Given the description of an element on the screen output the (x, y) to click on. 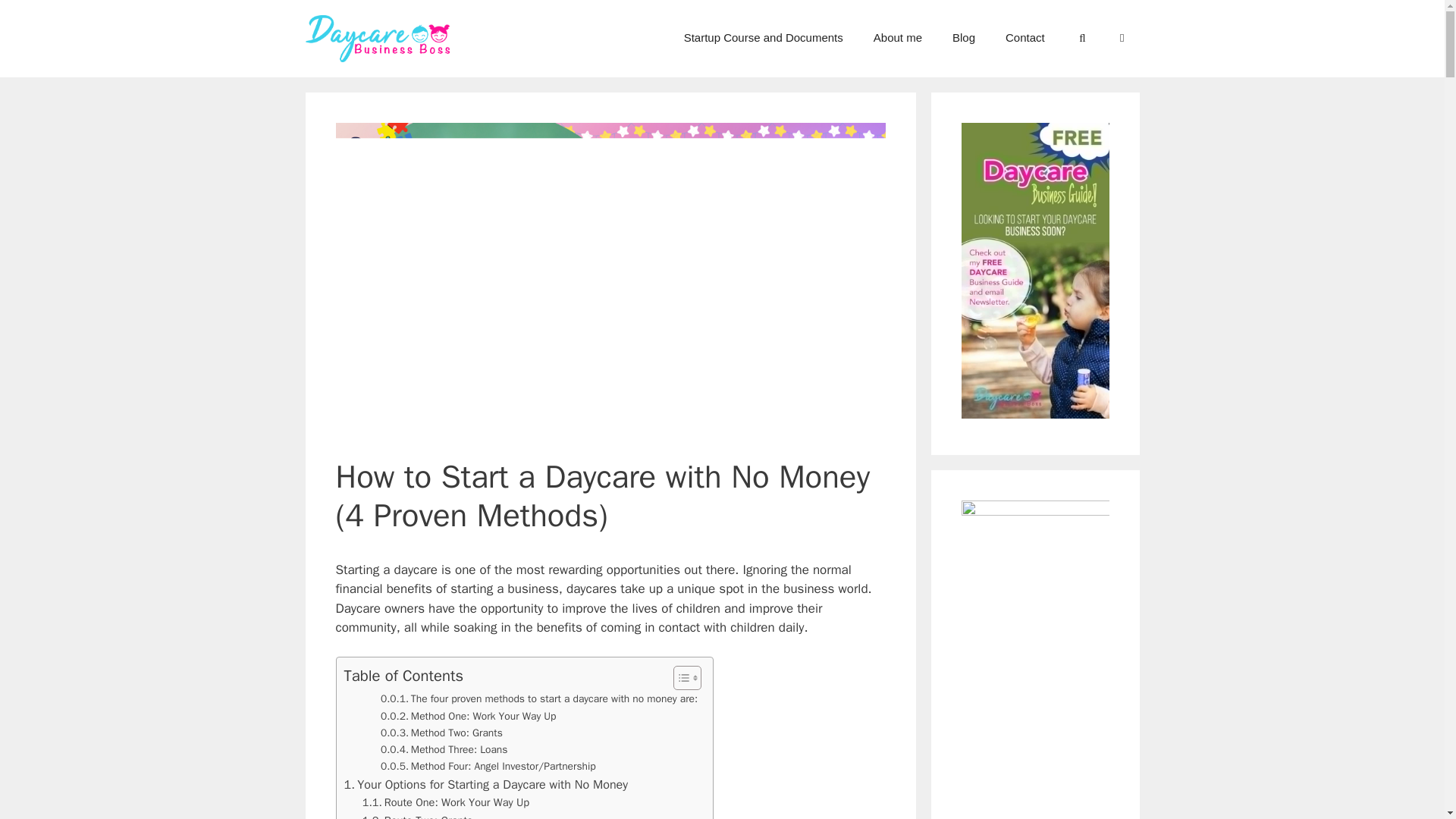
Method Two: Grants (441, 733)
Method Two: Grants (441, 733)
Your Options for Starting a Daycare with No Money (485, 784)
Startup Course and Documents (763, 37)
Your Options for Starting a Daycare with No Money (485, 784)
Method Three: Loans (444, 750)
Route Two: Grants (417, 815)
About me (898, 37)
